Given the description of an element on the screen output the (x, y) to click on. 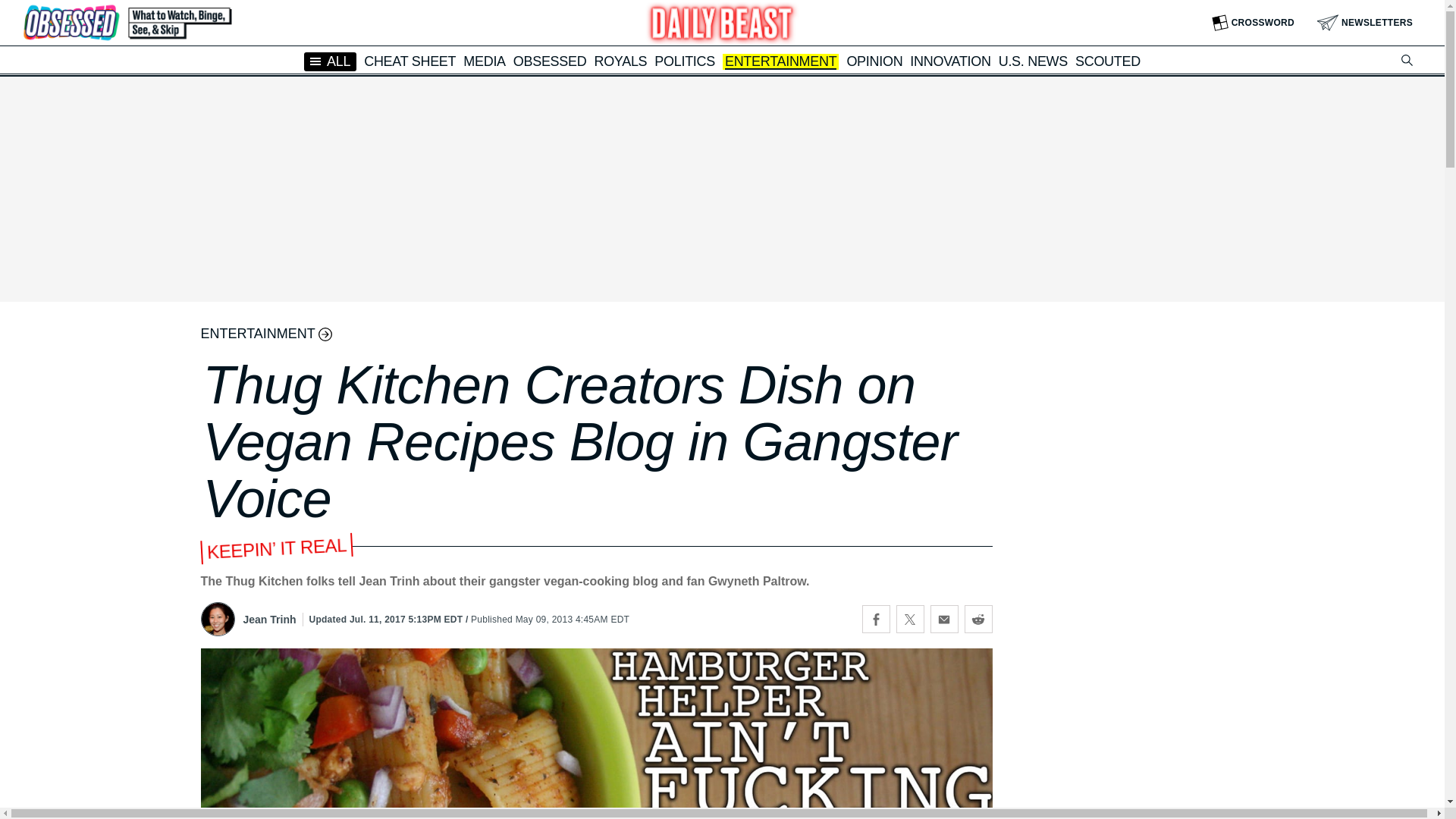
POLITICS (683, 60)
CHEAT SHEET (409, 60)
OPINION (873, 60)
INNOVATION (950, 60)
OBSESSED (549, 60)
NEWSLETTERS (1364, 22)
MEDIA (484, 60)
ENTERTAINMENT (780, 61)
ROYALS (620, 60)
CROSSWORD (1252, 22)
SCOUTED (1107, 60)
ALL (330, 60)
U.S. NEWS (1032, 60)
